Given the description of an element on the screen output the (x, y) to click on. 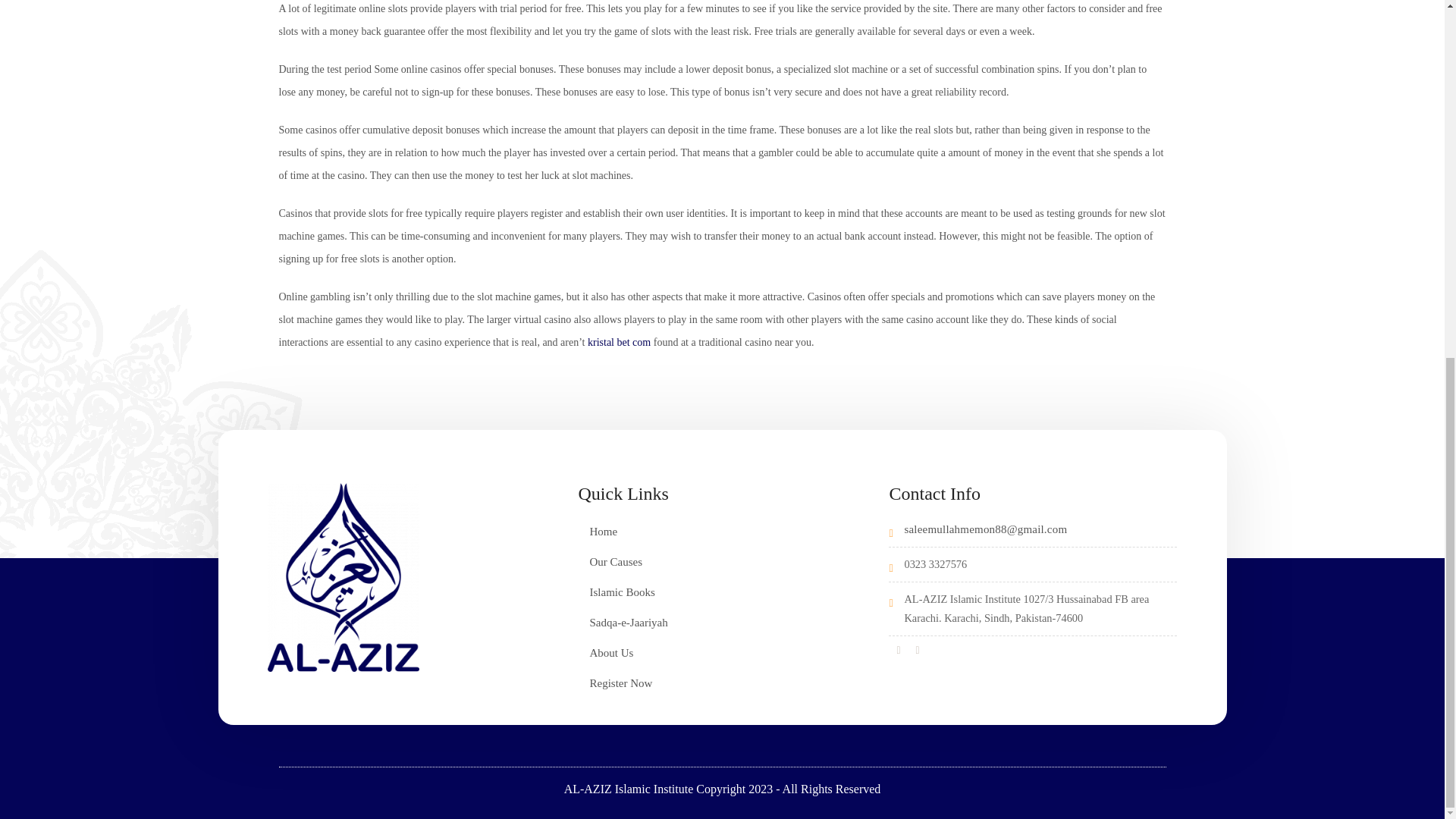
Register Now (620, 683)
About Us (611, 653)
Islamic Books (621, 592)
Home (603, 531)
Sadqa-e-Jaariyah (627, 622)
Our Causes (615, 562)
kristal bet com (619, 342)
